Given the description of an element on the screen output the (x, y) to click on. 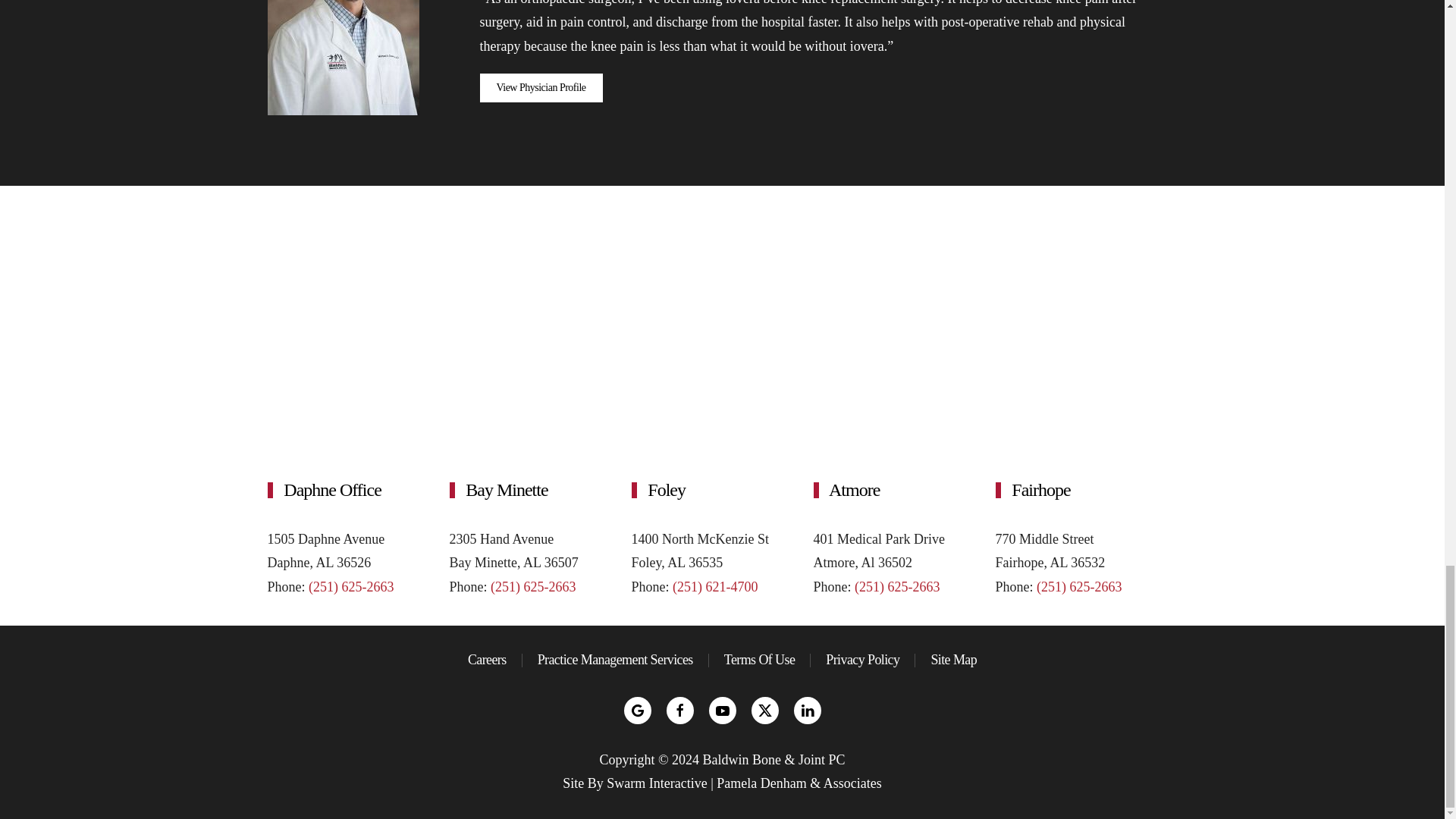
Office phone number (896, 586)
Office phone number (714, 586)
Office phone number (1078, 586)
Office phone number (532, 586)
Office phone number (350, 586)
